Given the description of an element on the screen output the (x, y) to click on. 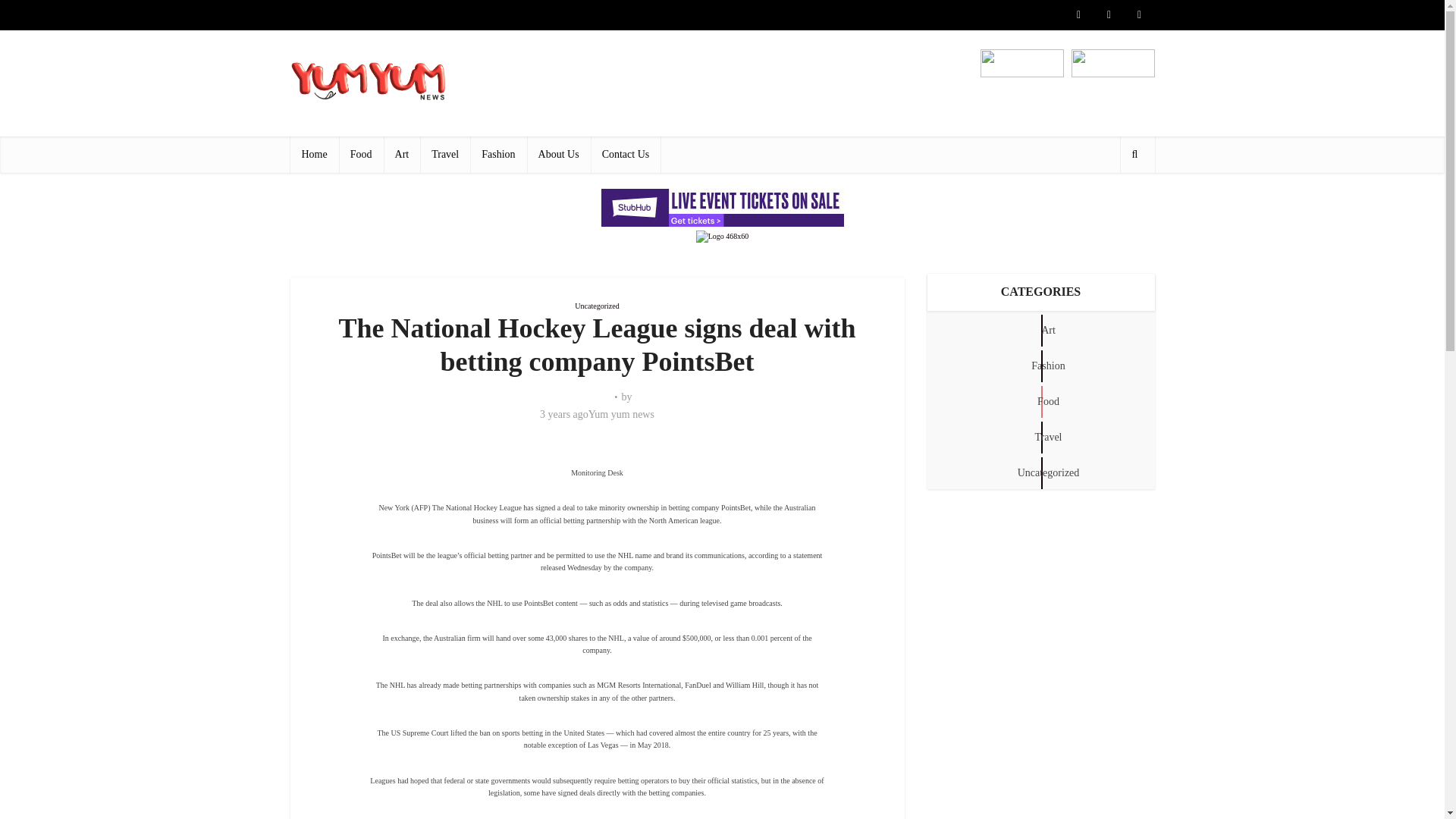
Uncategorized (596, 306)
Contact Us (626, 154)
Travel (445, 154)
About Us (559, 154)
Yum yum news (620, 414)
Fashion (497, 154)
Home (313, 154)
Logo 468x60 (722, 236)
Food (361, 154)
Art (402, 154)
